Given the description of an element on the screen output the (x, y) to click on. 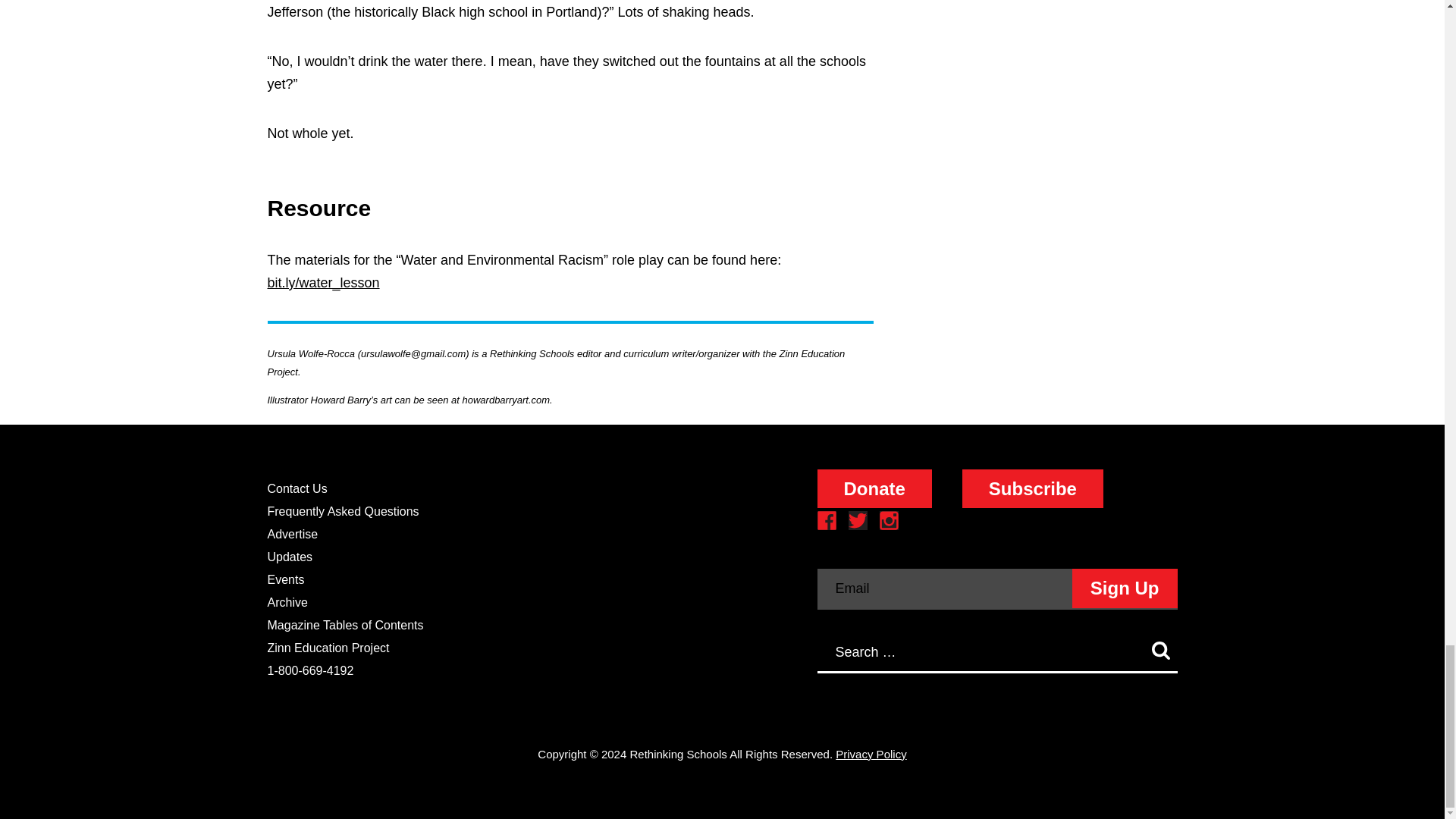
Contact Us (296, 488)
Frequently Asked Questions (342, 511)
1-800-669-4192 (309, 670)
Sign Up (1124, 588)
Zinn Education Project (327, 647)
Search (1159, 650)
Updates (289, 556)
Search (1159, 650)
Events (285, 579)
Magazine Tables of Contents (344, 625)
